Given the description of an element on the screen output the (x, y) to click on. 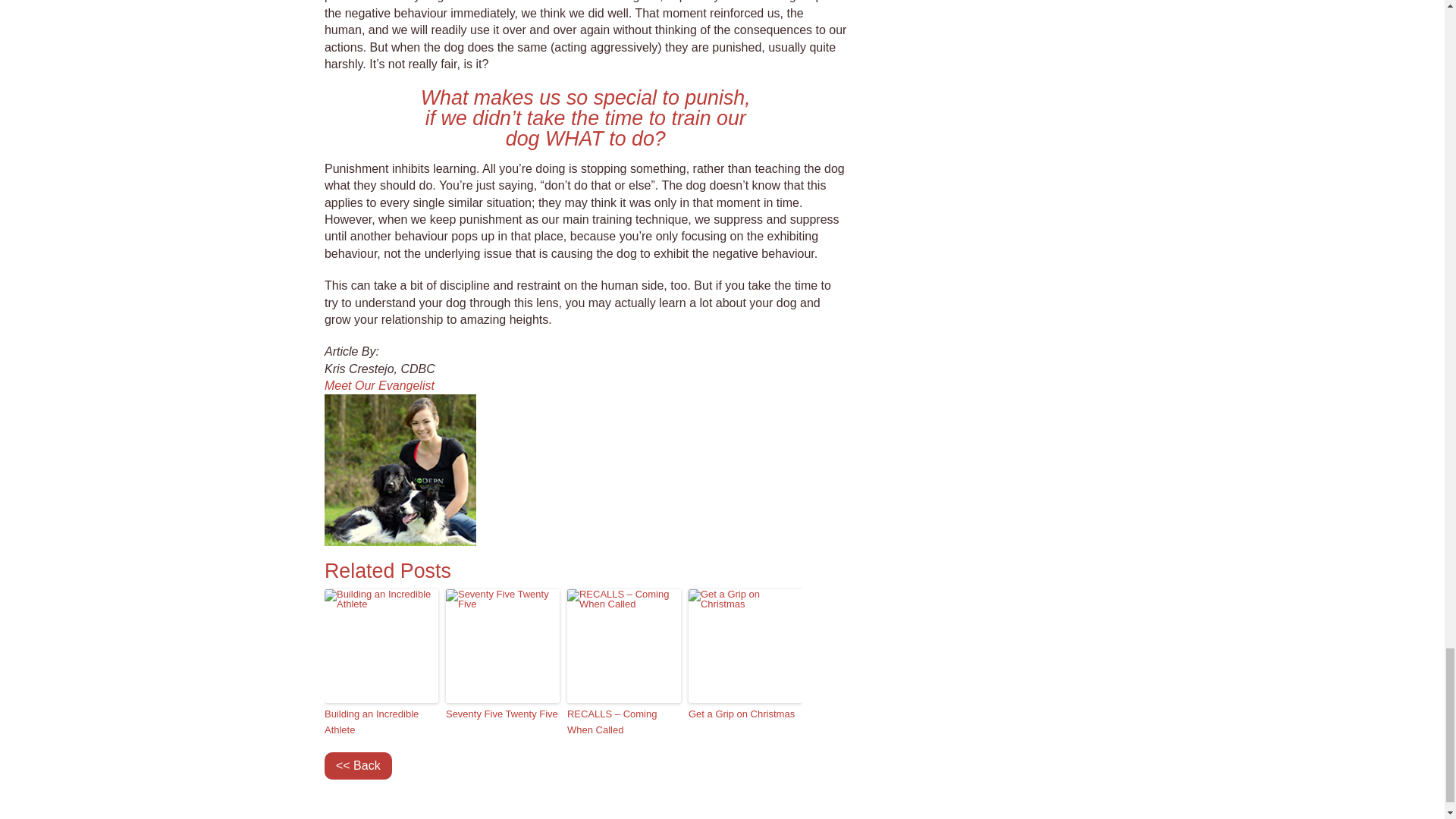
Meet Our Evangelist (378, 385)
Get a Grip on Christmas (745, 714)
Seventy Five Twenty Five (502, 714)
Building an Incredible Athlete (381, 722)
